Given the description of an element on the screen output the (x, y) to click on. 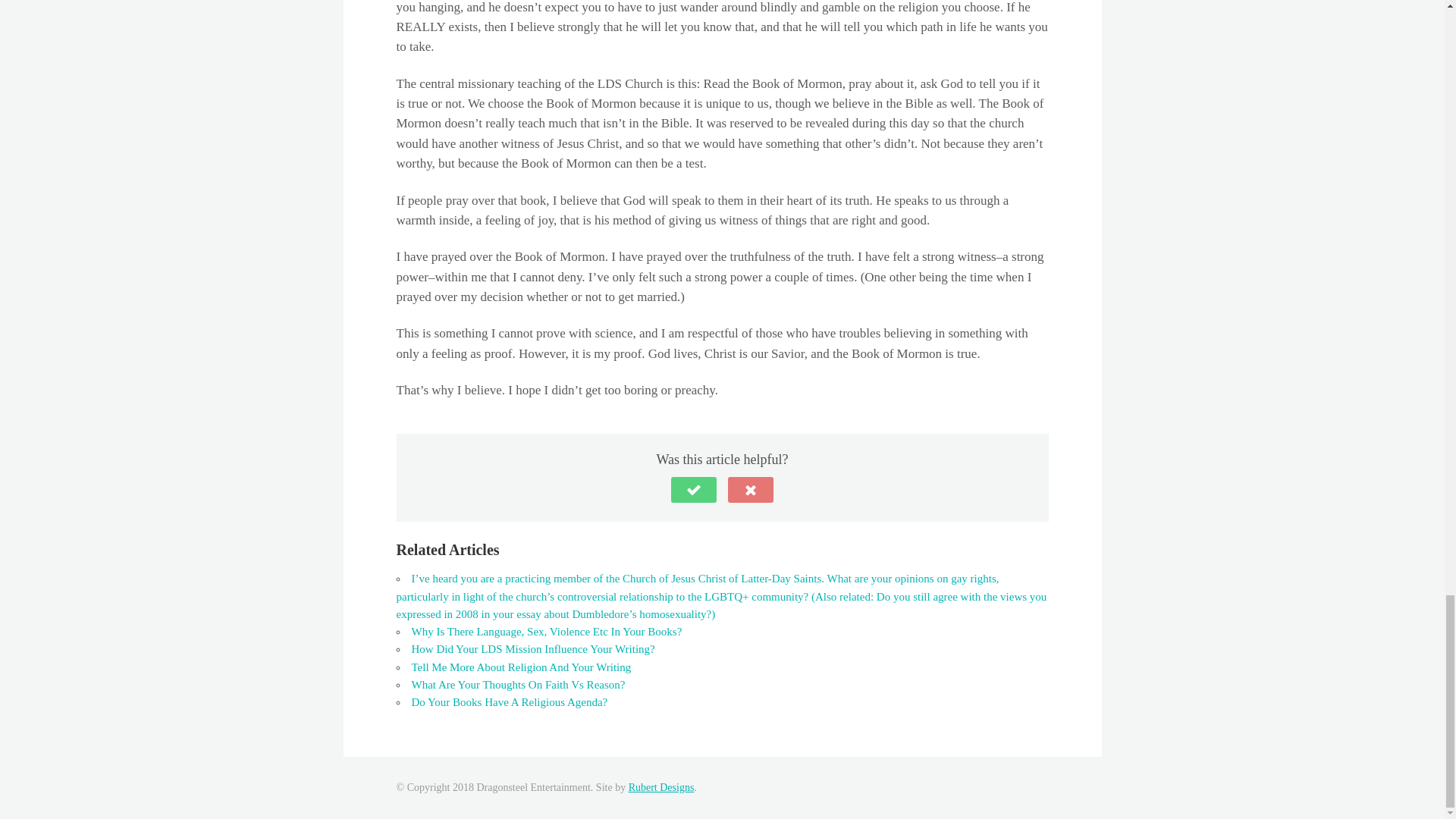
Rubert Designs (661, 787)
Why Is There Language, Sex, Violence Etc In Your Books? (545, 631)
Tell Me More About Religion And Your Writing (520, 666)
What Are Your Thoughts On Faith Vs Reason? (517, 684)
How Did Your LDS Mission Influence Your Writing? (531, 648)
Do Your Books Have A Religious Agenda? (508, 702)
